Given the description of an element on the screen output the (x, y) to click on. 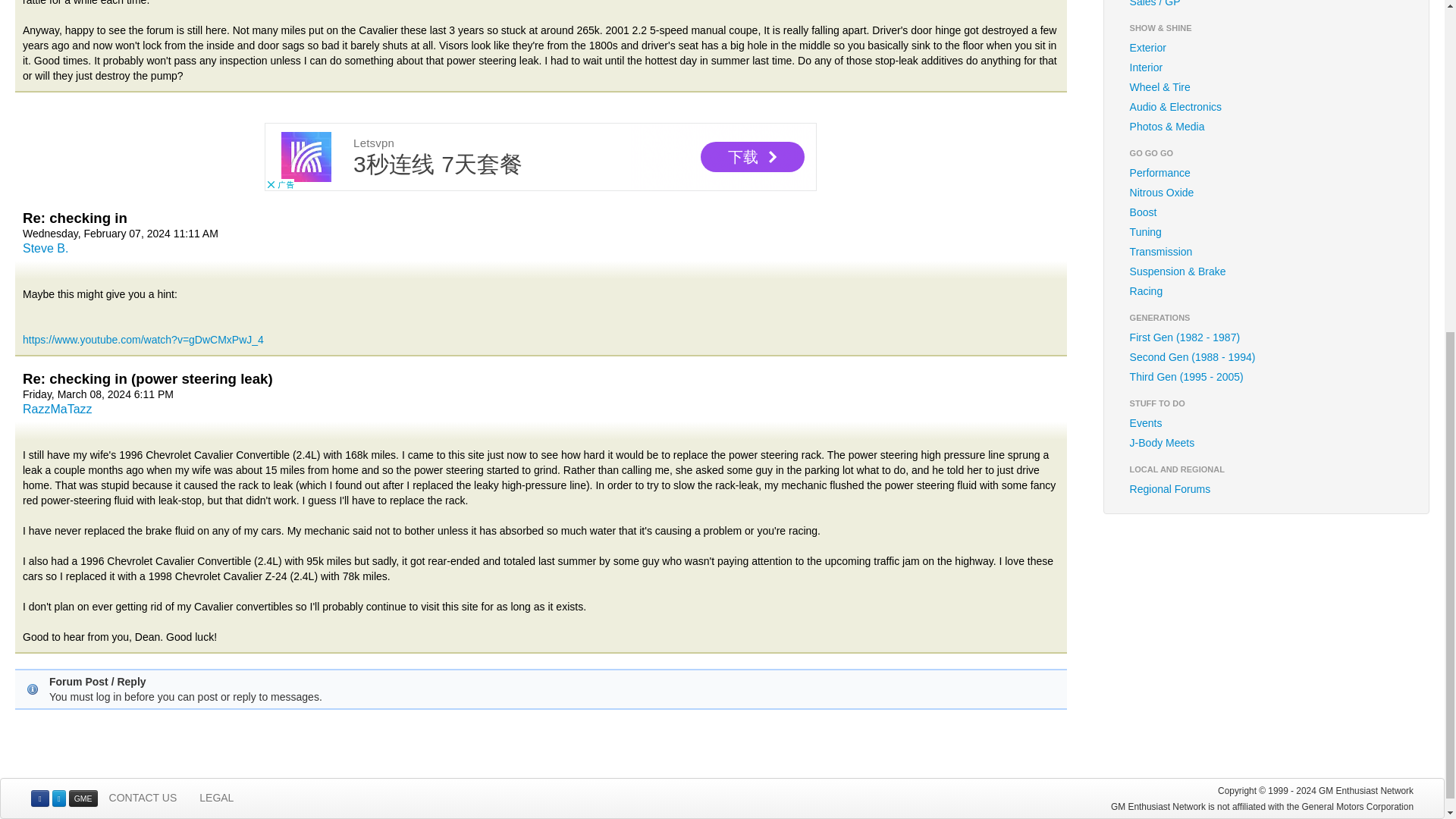
Advertisement (540, 156)
